Given the description of an element on the screen output the (x, y) to click on. 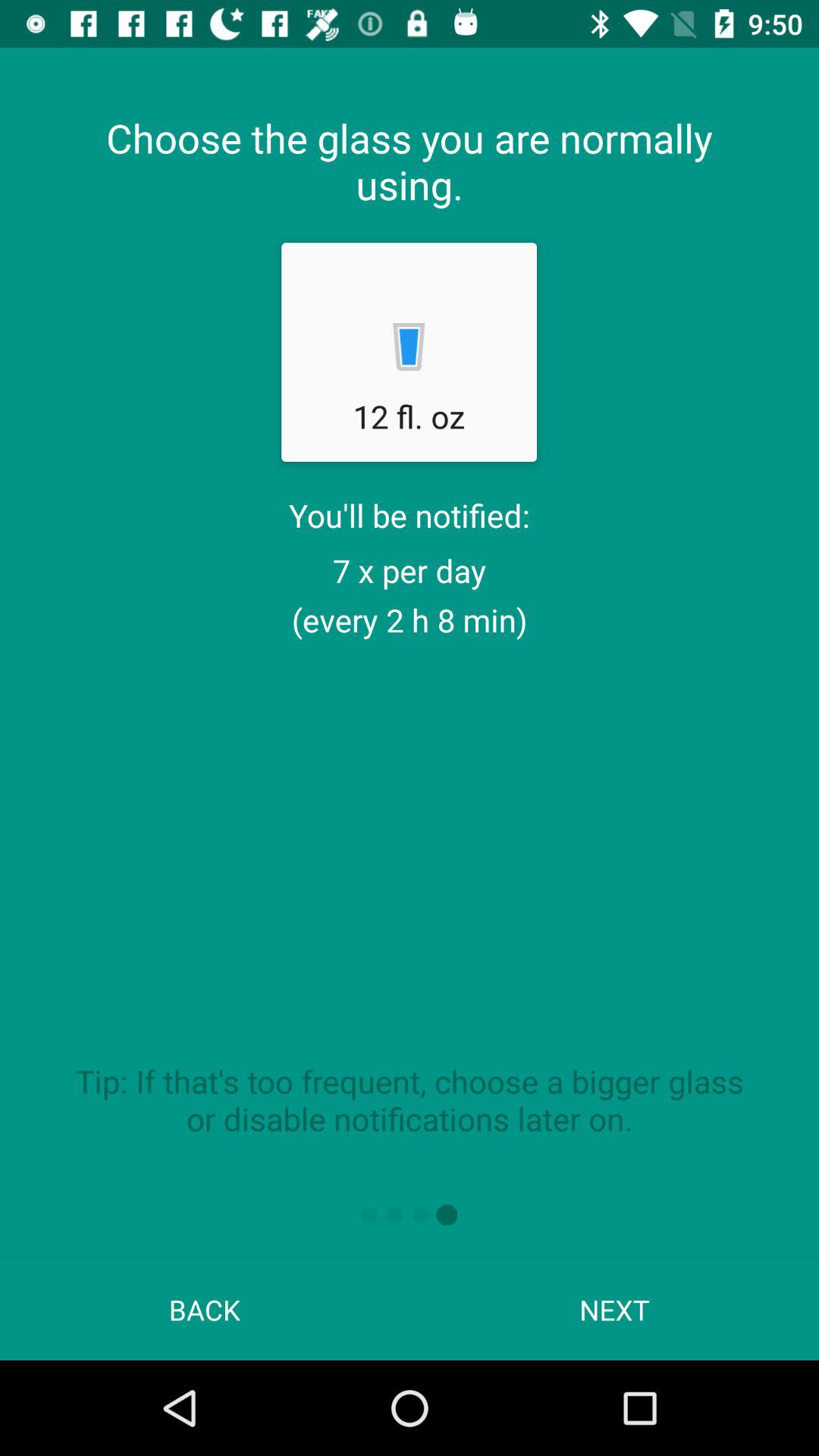
tap the app next to the next icon (204, 1309)
